Given the description of an element on the screen output the (x, y) to click on. 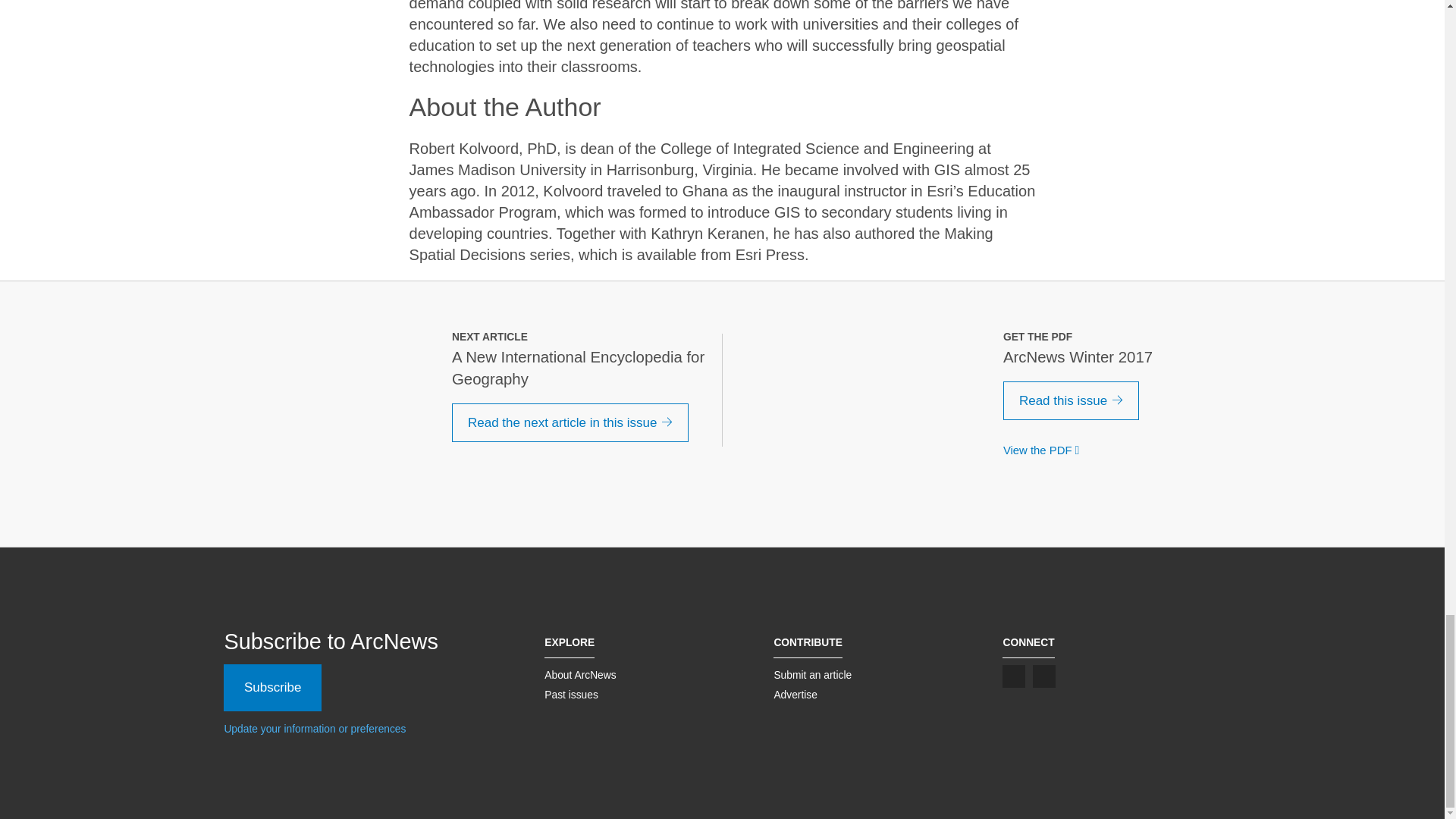
Read this issue (1070, 400)
About ArcNews (579, 674)
Update your information or preferences (315, 728)
Advertise (794, 694)
View the PDF (1044, 450)
Submit an article (812, 674)
Past issues (571, 694)
Subscribe (272, 687)
Read the next article in this issue (569, 423)
